Given the description of an element on the screen output the (x, y) to click on. 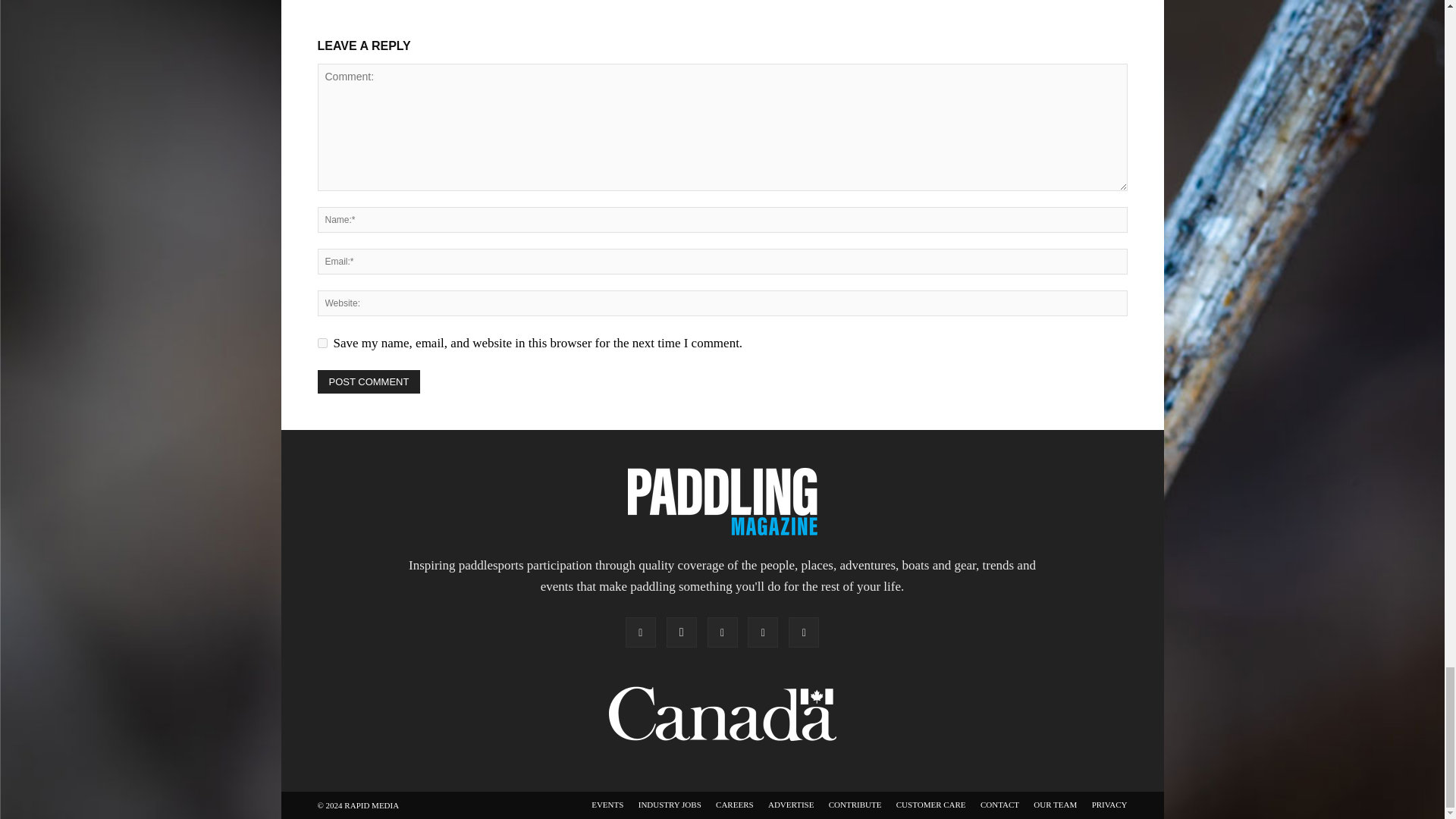
Post Comment (368, 381)
yes (321, 343)
